Given the description of an element on the screen output the (x, y) to click on. 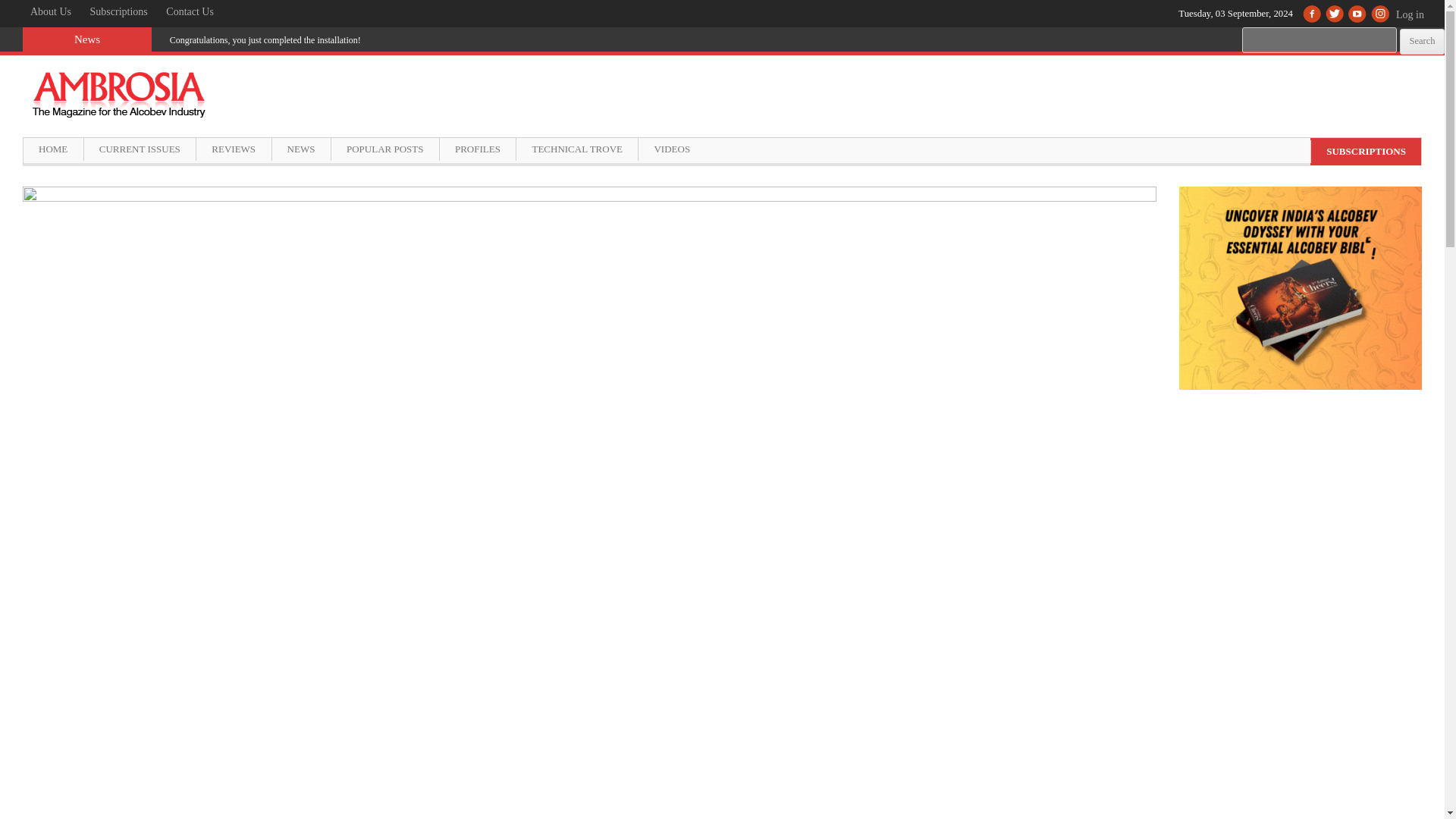
HOME (52, 149)
Log in (1415, 22)
NEWS (300, 149)
REVIEWS (232, 149)
PROFILES (477, 149)
TECHNICAL TROVE (576, 149)
SUBSCRIPTIONS (1365, 151)
Contact Us (189, 12)
About Us (50, 12)
